Given the description of an element on the screen output the (x, y) to click on. 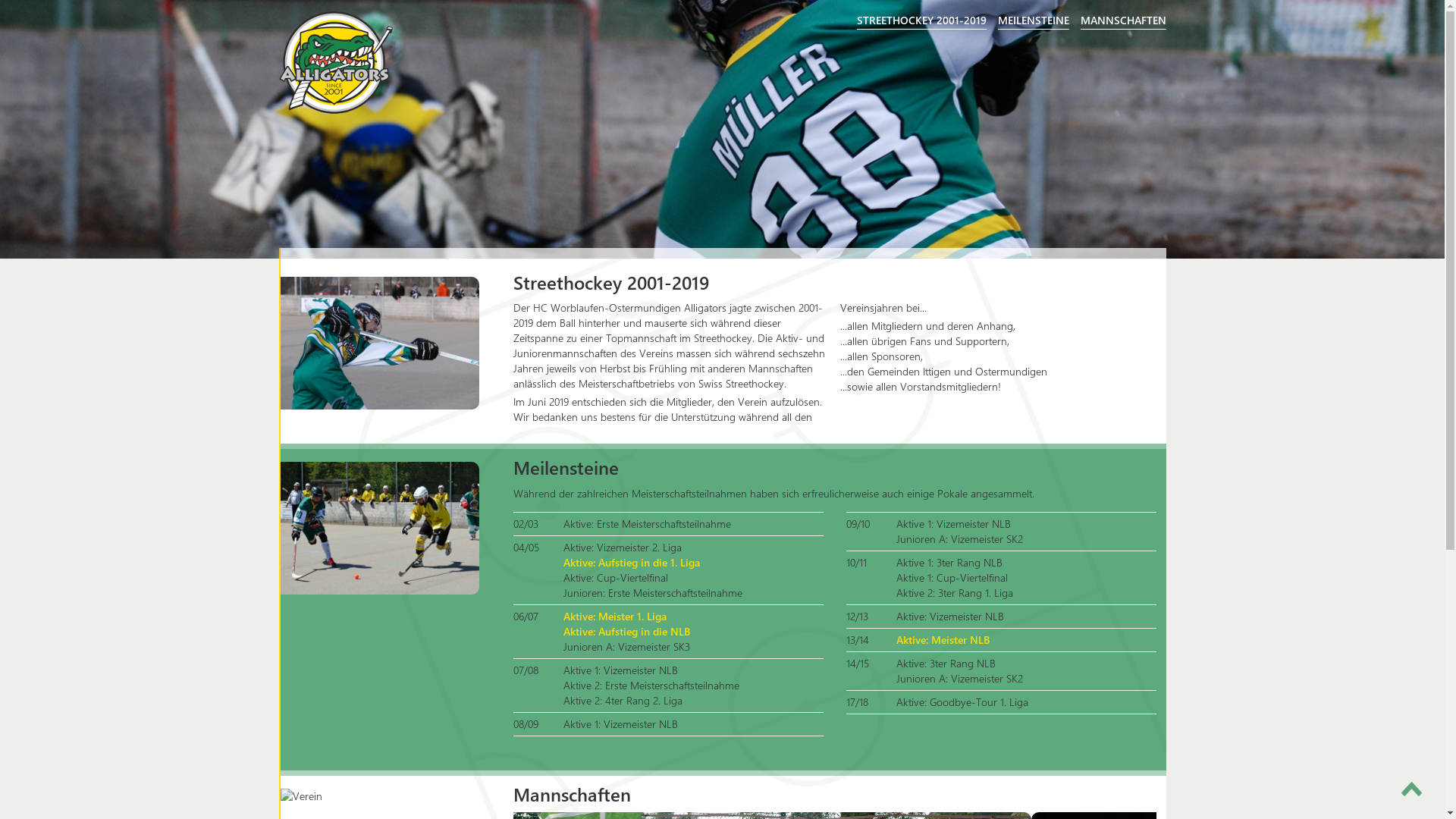
MANNSCHAFTEN Element type: text (1122, 20)
STREETHOCKEY 2001-2019 Element type: text (921, 20)
MEILENSTEINE Element type: text (1033, 20)
